Given the description of an element on the screen output the (x, y) to click on. 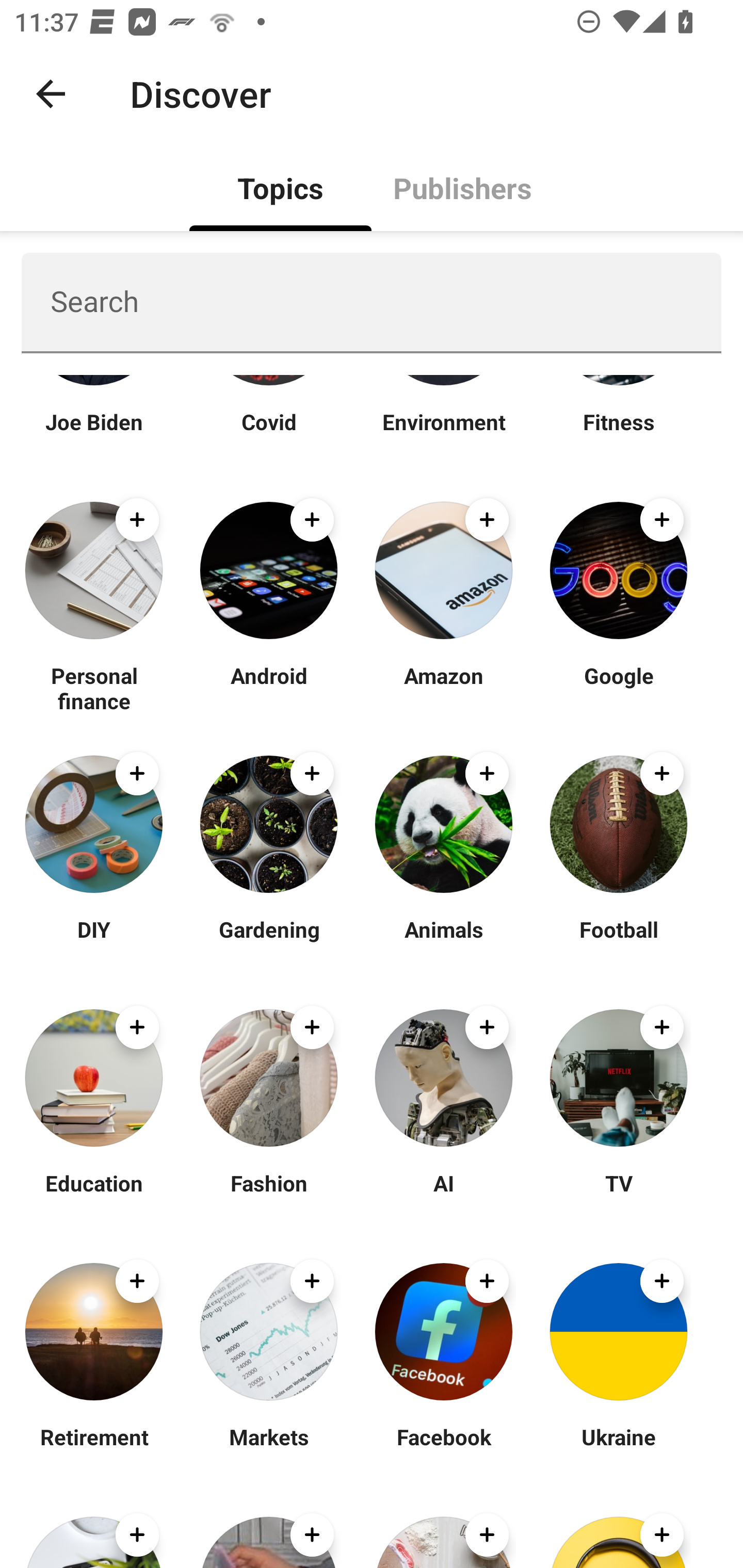
Publishers (462, 187)
Search (371, 302)
Joe Biden (93, 433)
Covid (268, 433)
Environment (443, 433)
Fitness (618, 433)
Personal finance (93, 687)
Android (268, 687)
Amazon (443, 687)
Google (618, 687)
DIY (93, 941)
Gardening (268, 941)
Animals (443, 941)
Football (618, 941)
Education (93, 1195)
Fashion (268, 1195)
AI (443, 1195)
TV (618, 1195)
Retirement (93, 1449)
Markets (268, 1449)
Facebook (443, 1449)
Ukraine (618, 1449)
